Given the description of an element on the screen output the (x, y) to click on. 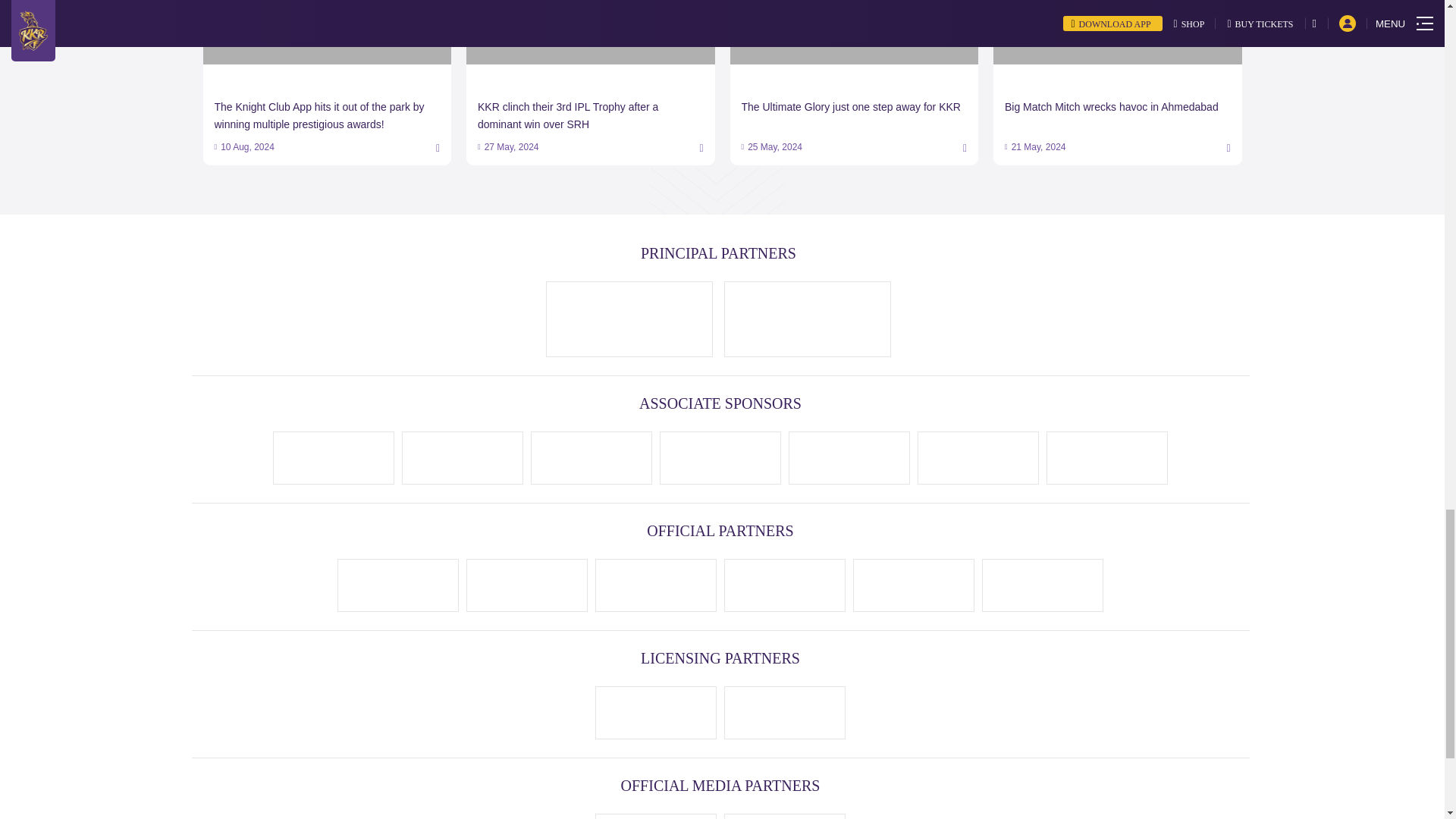
Thums Up (398, 585)
Acko (719, 457)
JSW Paints (977, 457)
Dream11 (628, 318)
BKT (807, 319)
Royal Green (849, 457)
Bira (526, 585)
Joy (591, 457)
